Given the description of an element on the screen output the (x, y) to click on. 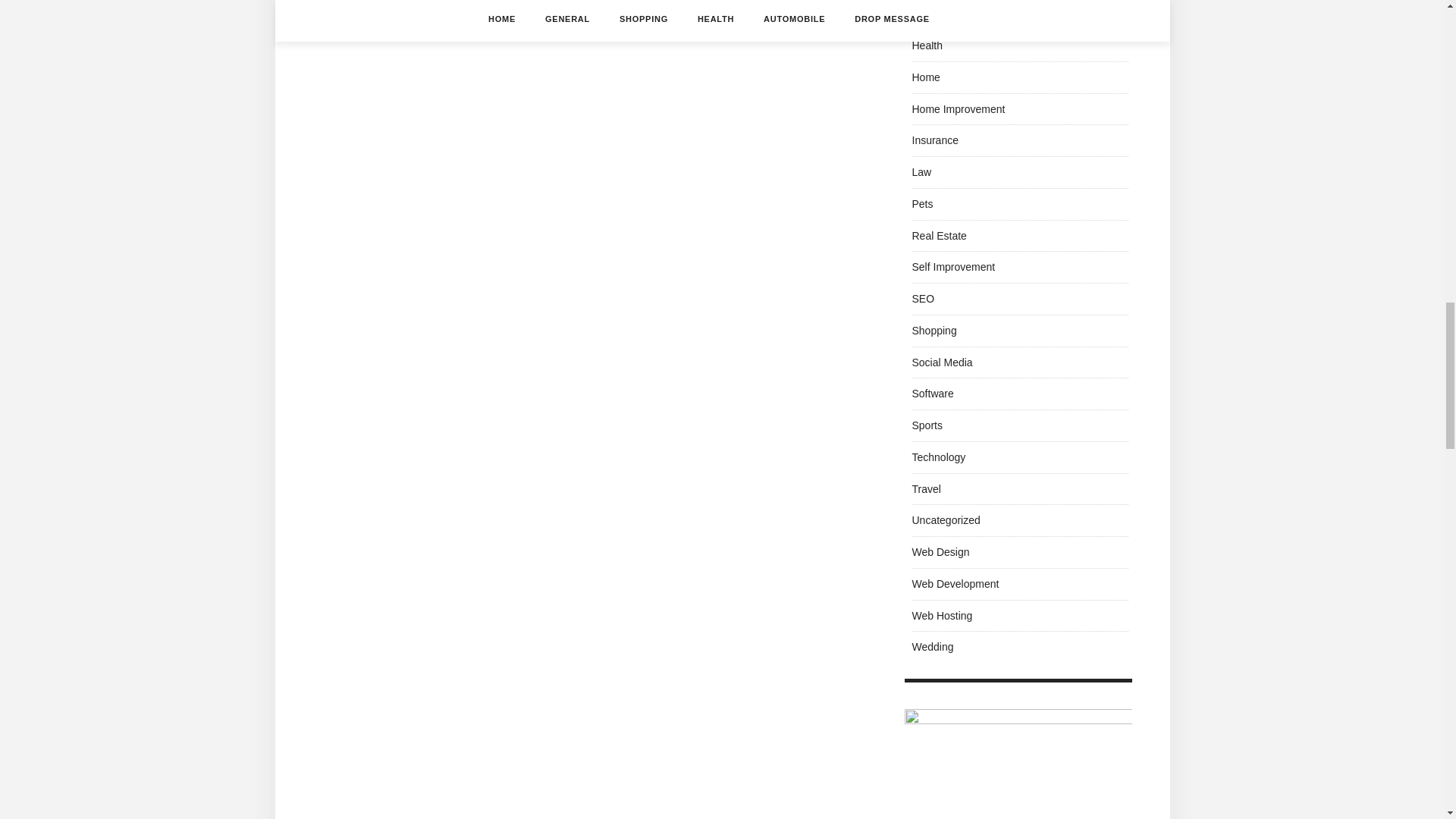
Home (925, 77)
General (930, 13)
Home Improvement (957, 109)
Health (926, 45)
Insurance (934, 140)
